Given the description of an element on the screen output the (x, y) to click on. 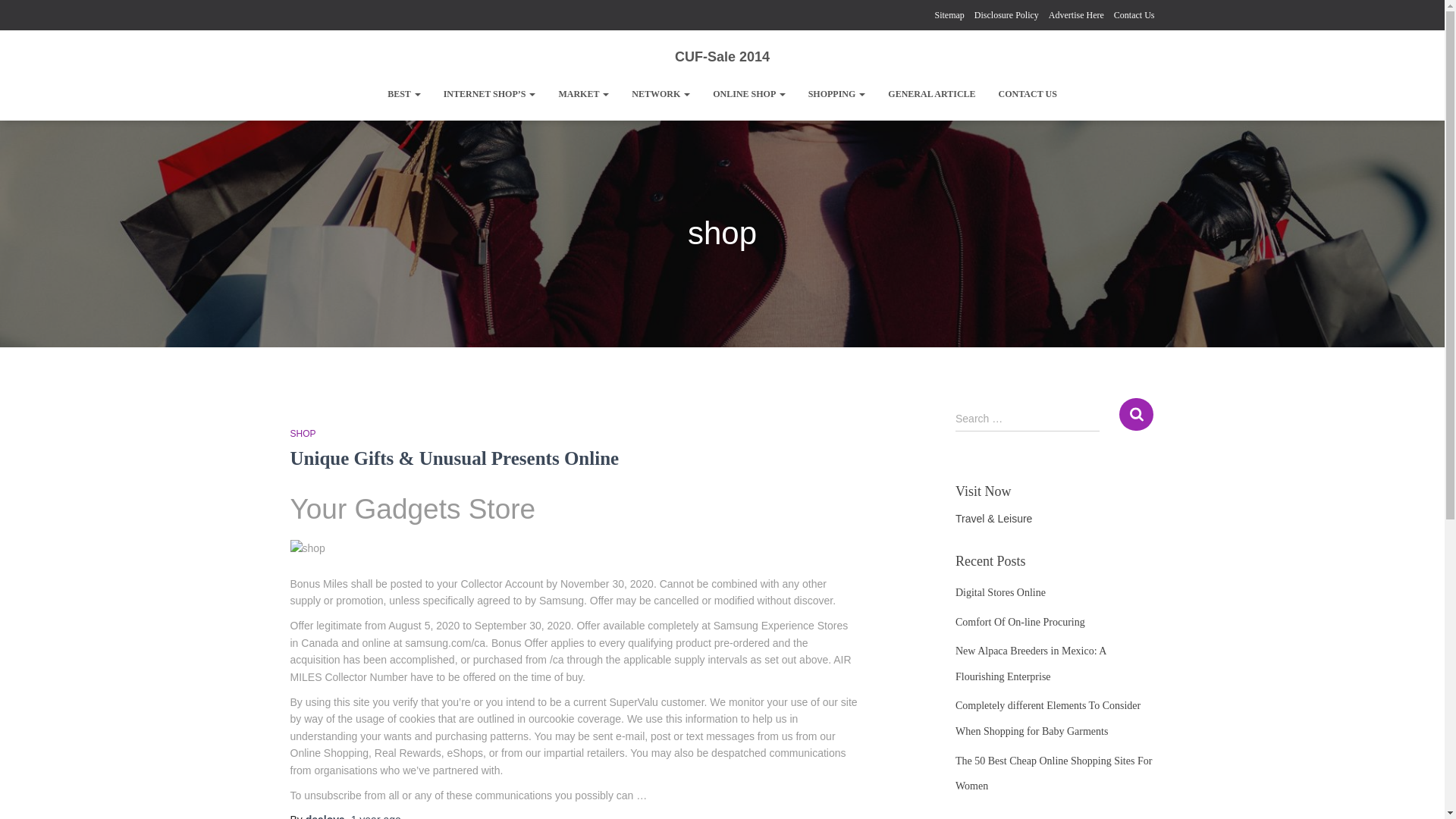
Market (583, 94)
Disclosure Policy (1006, 15)
Advertise Here (1075, 15)
CONTACT US (1027, 94)
Contact Us (1133, 15)
Sitemap (948, 15)
Sitemap (948, 15)
MARKET (583, 94)
Search (1136, 414)
CUF-Sale 2014 (721, 56)
SHOPPING (836, 94)
NETWORK (660, 94)
Advertise Here (1075, 15)
Contact Us (1133, 15)
GENERAL ARTICLE (931, 94)
